Given the description of an element on the screen output the (x, y) to click on. 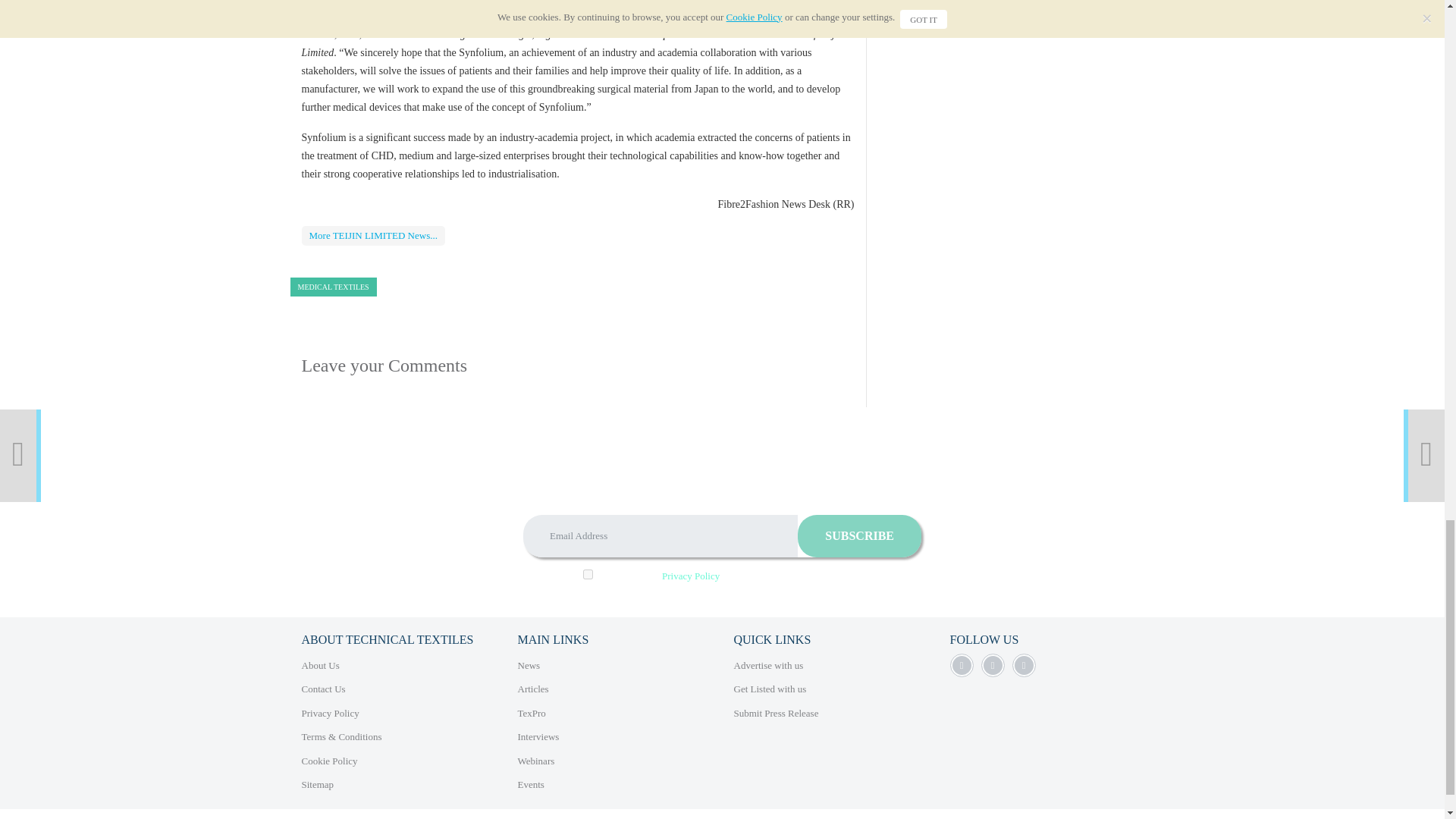
yes (587, 574)
MEDICAL TEXTILES (332, 286)
More TEIJIN LIMITED News... (373, 235)
